Given the description of an element on the screen output the (x, y) to click on. 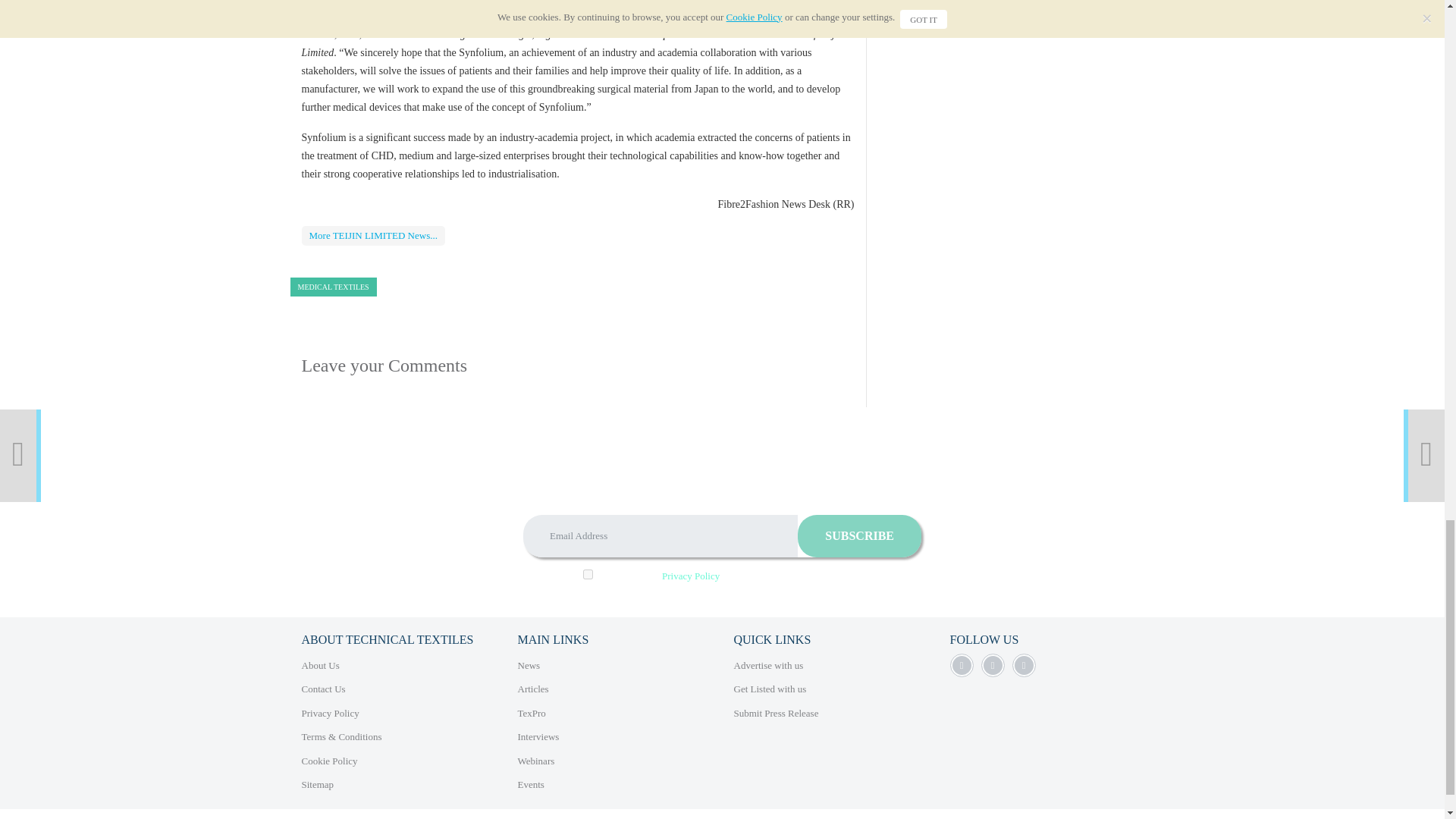
yes (587, 574)
MEDICAL TEXTILES (332, 286)
More TEIJIN LIMITED News... (373, 235)
